Given the description of an element on the screen output the (x, y) to click on. 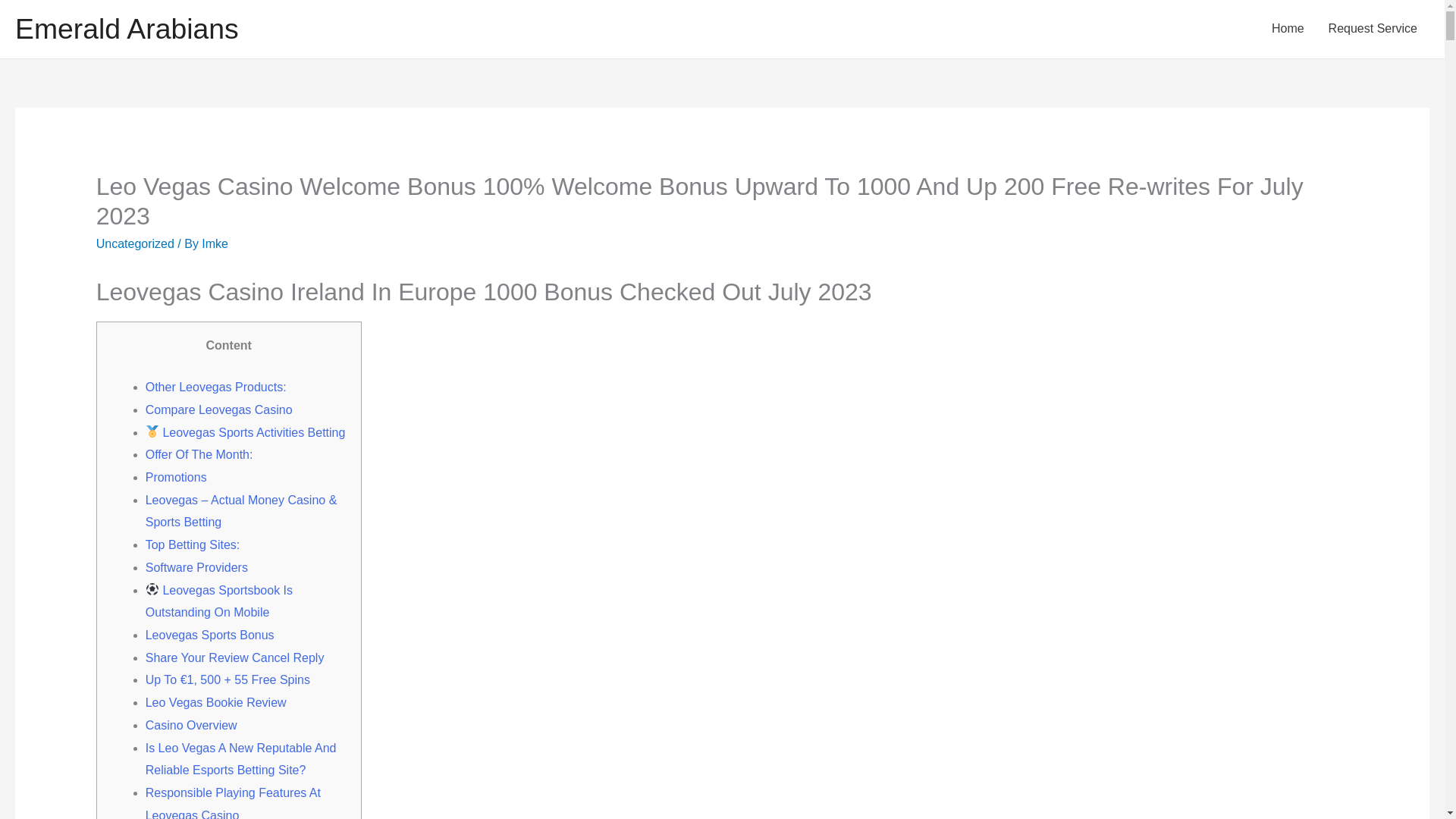
Home (1287, 29)
Leovegas Sportsbook Is Outstanding On Mobile (218, 601)
Software Providers (196, 567)
Leo Vegas Bookie Review (215, 702)
View all posts by Imke (215, 243)
Uncategorized (135, 243)
Promotions (175, 477)
Share Your Review Cancel Reply (234, 657)
Top Betting Sites: (192, 544)
Emerald Arabians (126, 29)
Compare Leovegas Casino (218, 409)
Responsible Playing Features At Leovegas Casino (232, 802)
Casino Overview (191, 725)
Imke (215, 243)
Leovegas Sports Bonus (210, 634)
